Given the description of an element on the screen output the (x, y) to click on. 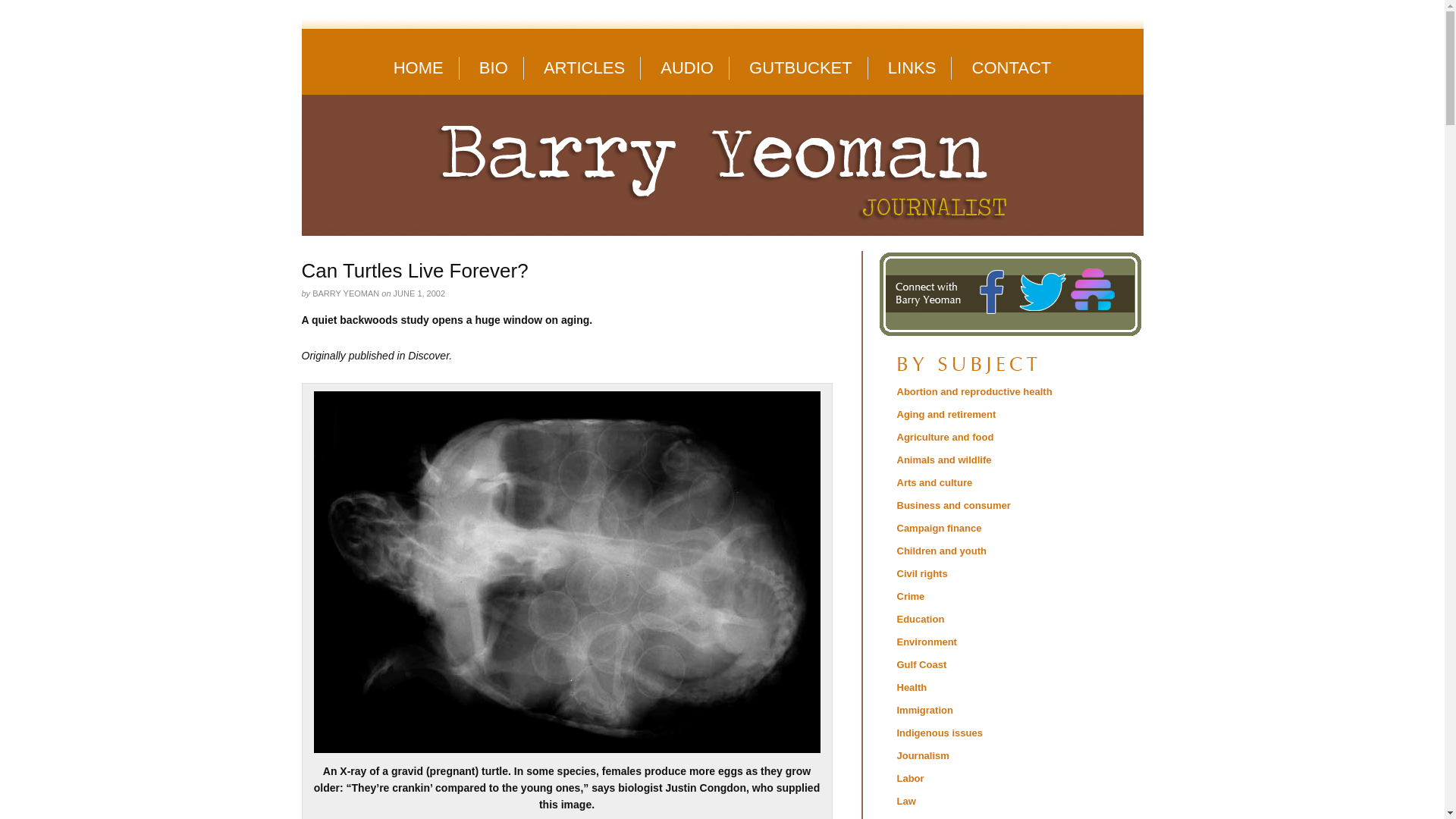
Crime (910, 595)
Journalism (922, 755)
Campaign finance (938, 527)
AUDIO (687, 67)
ARTICLES (584, 67)
HOME (419, 67)
Immigration (924, 709)
Civil rights (921, 573)
